Given the description of an element on the screen output the (x, y) to click on. 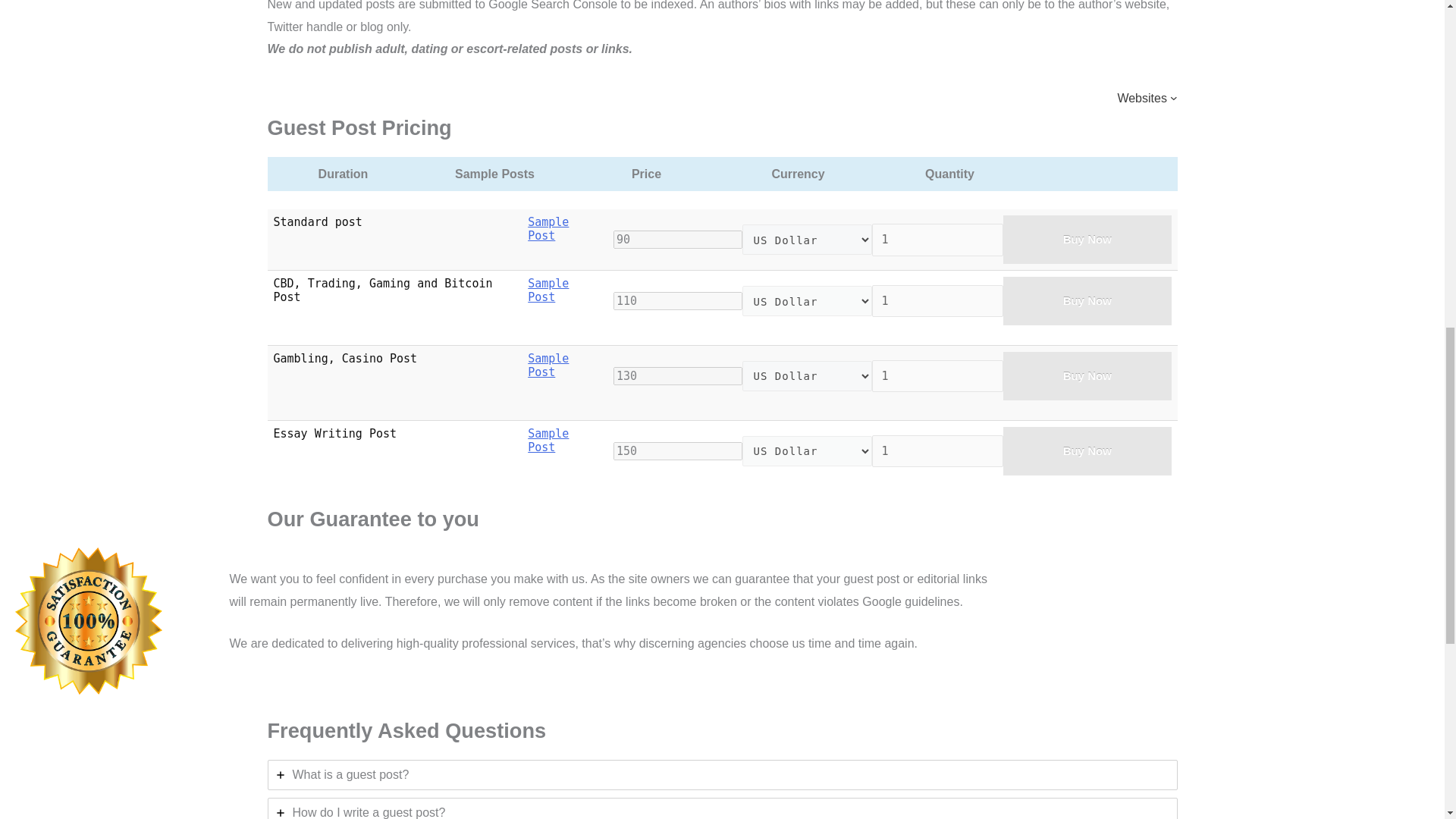
Buy Now (1087, 300)
1 (937, 376)
Websites (1146, 97)
Buy Now (1087, 450)
1 (937, 450)
Buy Now (1087, 376)
110 (677, 300)
90 (677, 239)
Buy Now (1087, 239)
1 (937, 239)
130 (677, 375)
150 (677, 451)
1 (937, 301)
